Given the description of an element on the screen output the (x, y) to click on. 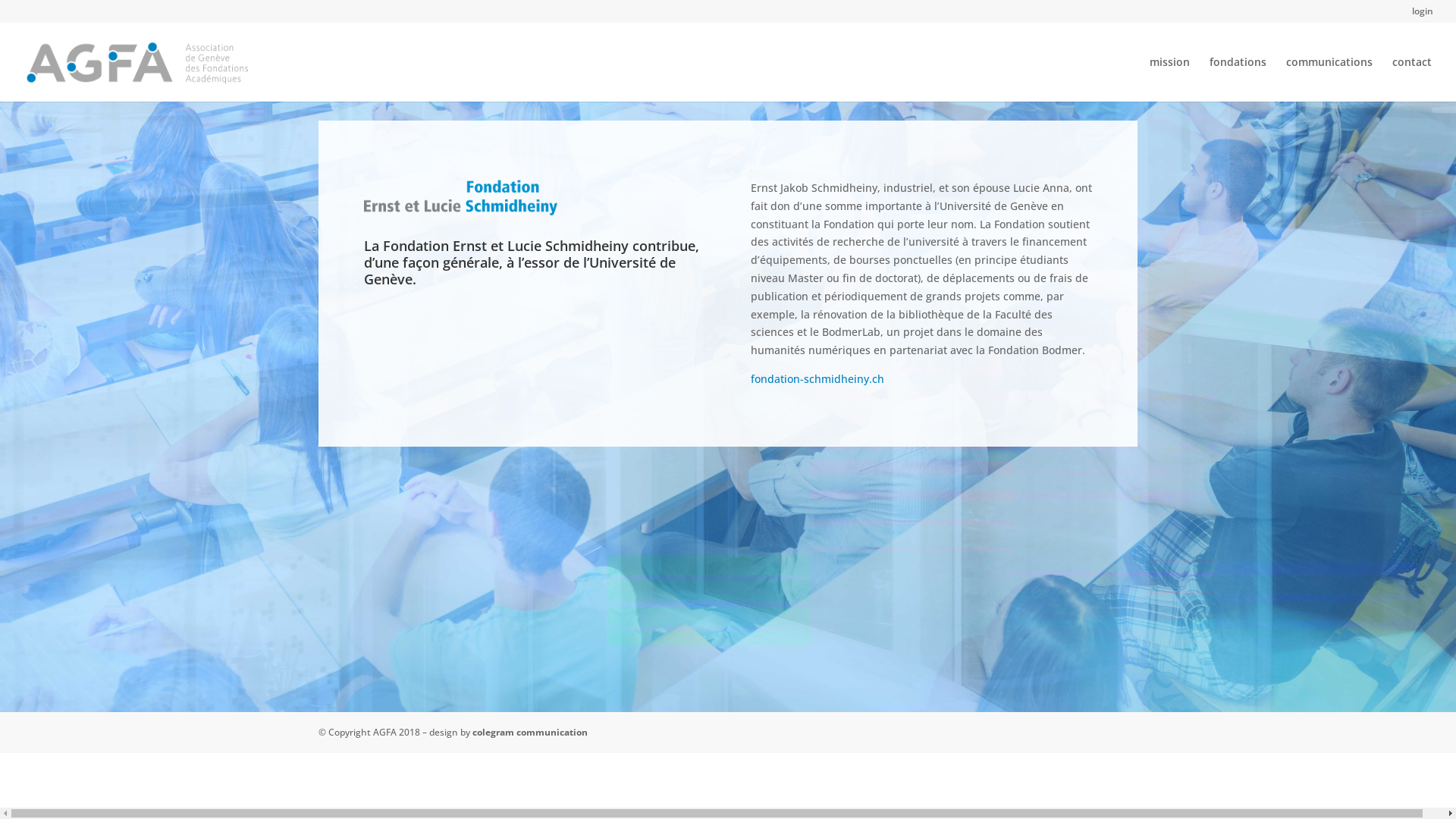
contact Element type: text (1411, 78)
login Element type: text (1422, 14)
fondation-schmidheiny.ch Element type: text (817, 378)
communications Element type: text (1329, 78)
mission Element type: text (1169, 78)
fondations Element type: text (1237, 78)
colegram communication Element type: text (529, 731)
